Given the description of an element on the screen output the (x, y) to click on. 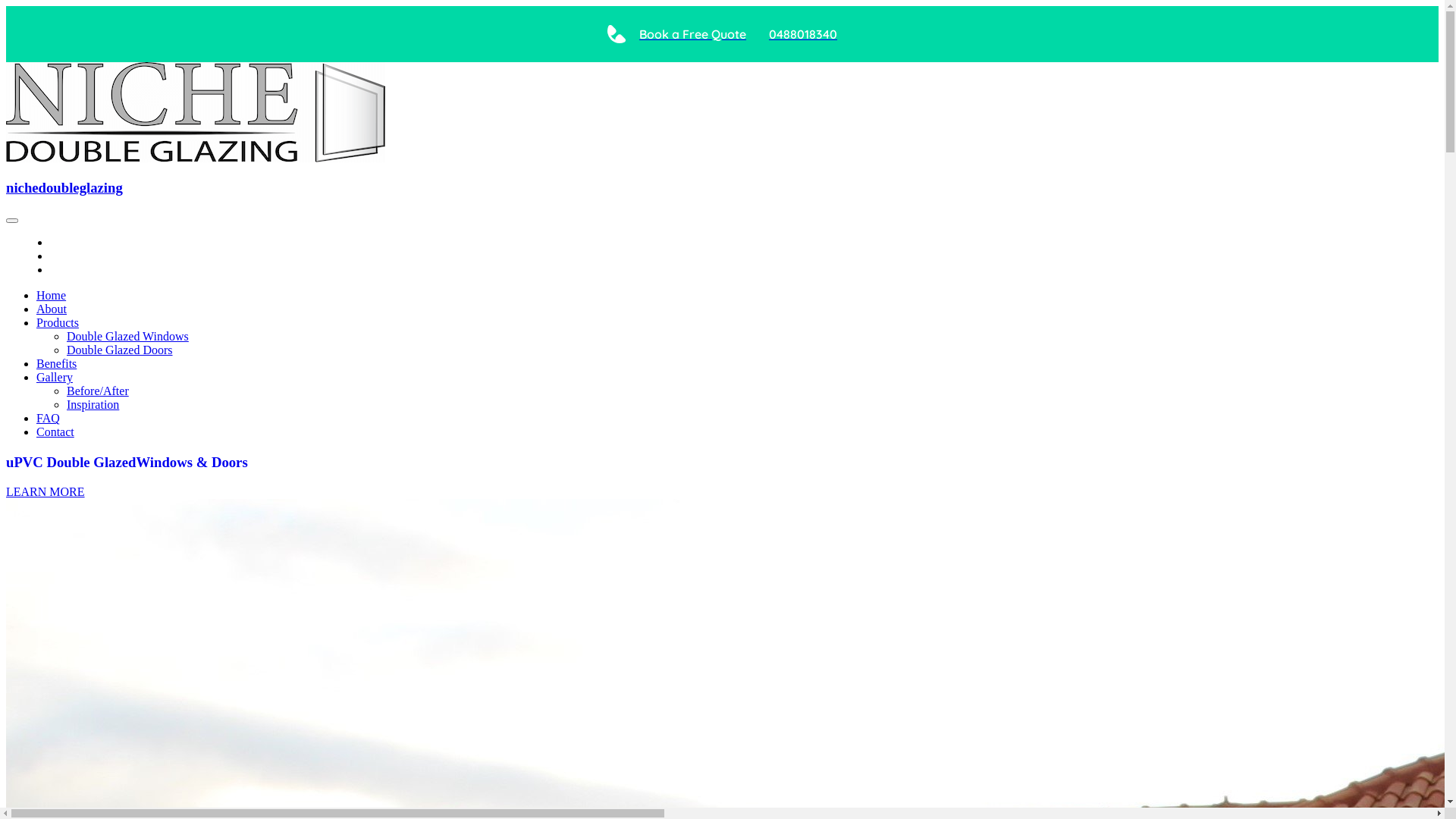
LEARN MORE Element type: text (45, 491)
Contact Element type: text (55, 431)
nichedoubleglazing Element type: text (64, 187)
FAQ Element type: text (47, 417)
About Element type: text (51, 308)
Book a Free Quote
0488018340 Element type: text (722, 34)
Double Glazed Doors Element type: text (119, 349)
Gallery Element type: text (54, 376)
Inspiration Element type: text (92, 404)
Before/After Element type: text (97, 390)
Benefits Element type: text (56, 363)
Products Element type: text (57, 322)
Double Glazed Windows Element type: text (127, 335)
uPVC Double Glazed Windows & Doors Element type: text (722, 462)
Home Element type: text (50, 294)
